Given the description of an element on the screen output the (x, y) to click on. 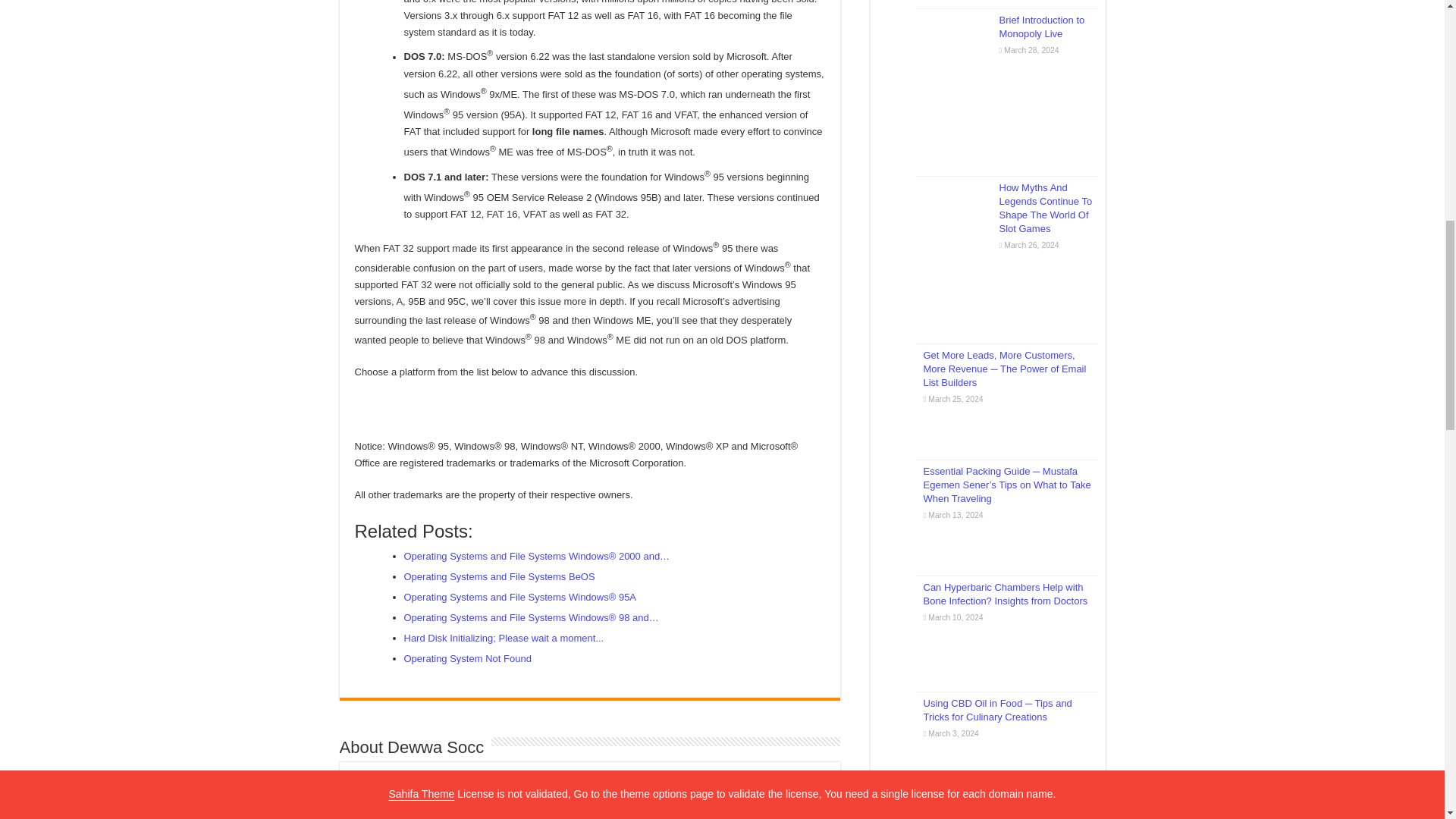
Hard Disk Initializing; Please wait a moment... (503, 637)
Scroll To Top (1421, 60)
Operating Systems and File Systems BeOS (498, 576)
Operating System Not Found (467, 658)
